Given the description of an element on the screen output the (x, y) to click on. 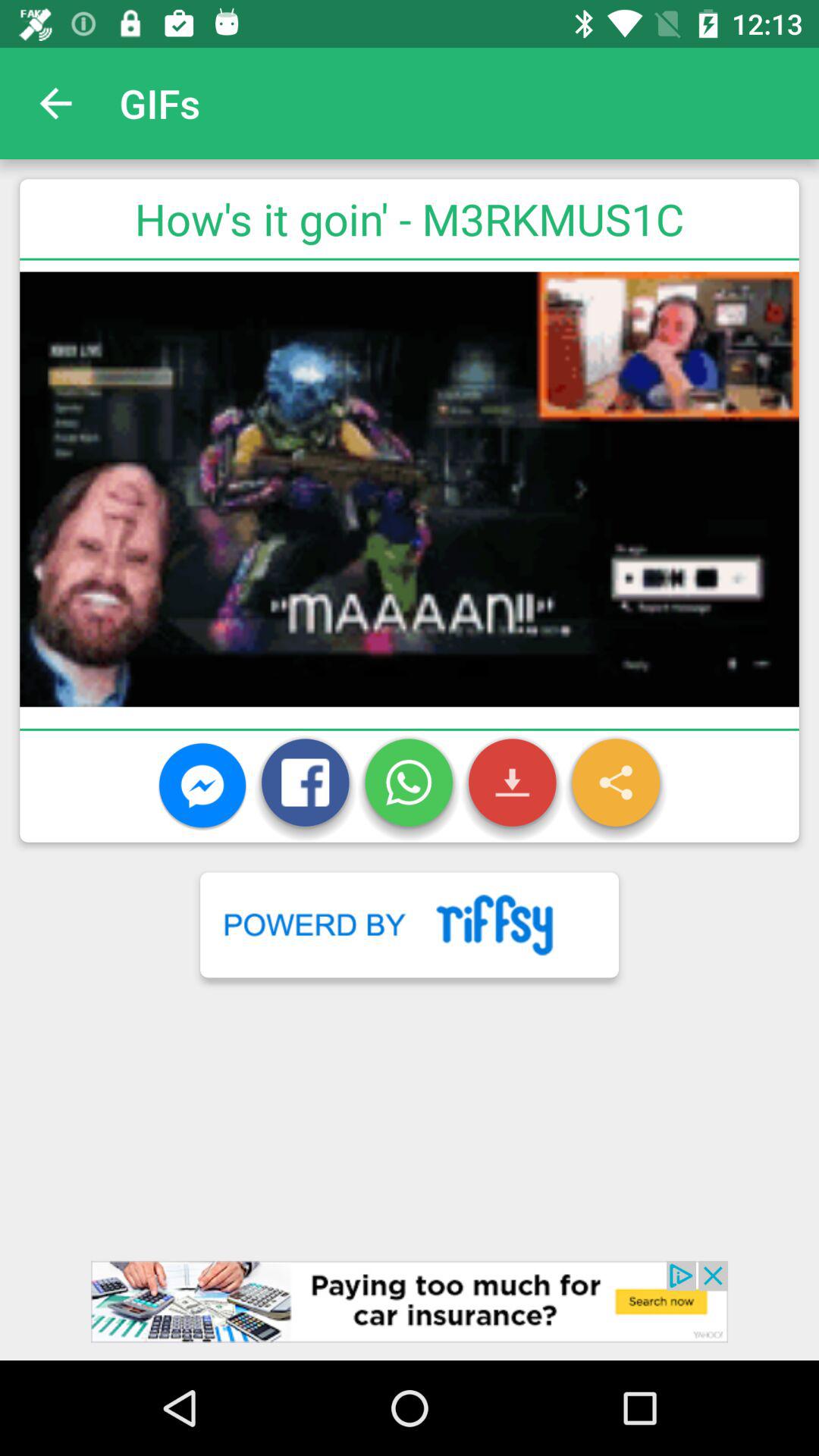
select the symbol which is to the immediate right of face book symbol (409, 786)
click on the download icon (512, 786)
click on share button (616, 786)
select the tab which is below the watsapp (409, 924)
click on the icon which has a letter f on it (305, 786)
